Given the description of an element on the screen output the (x, y) to click on. 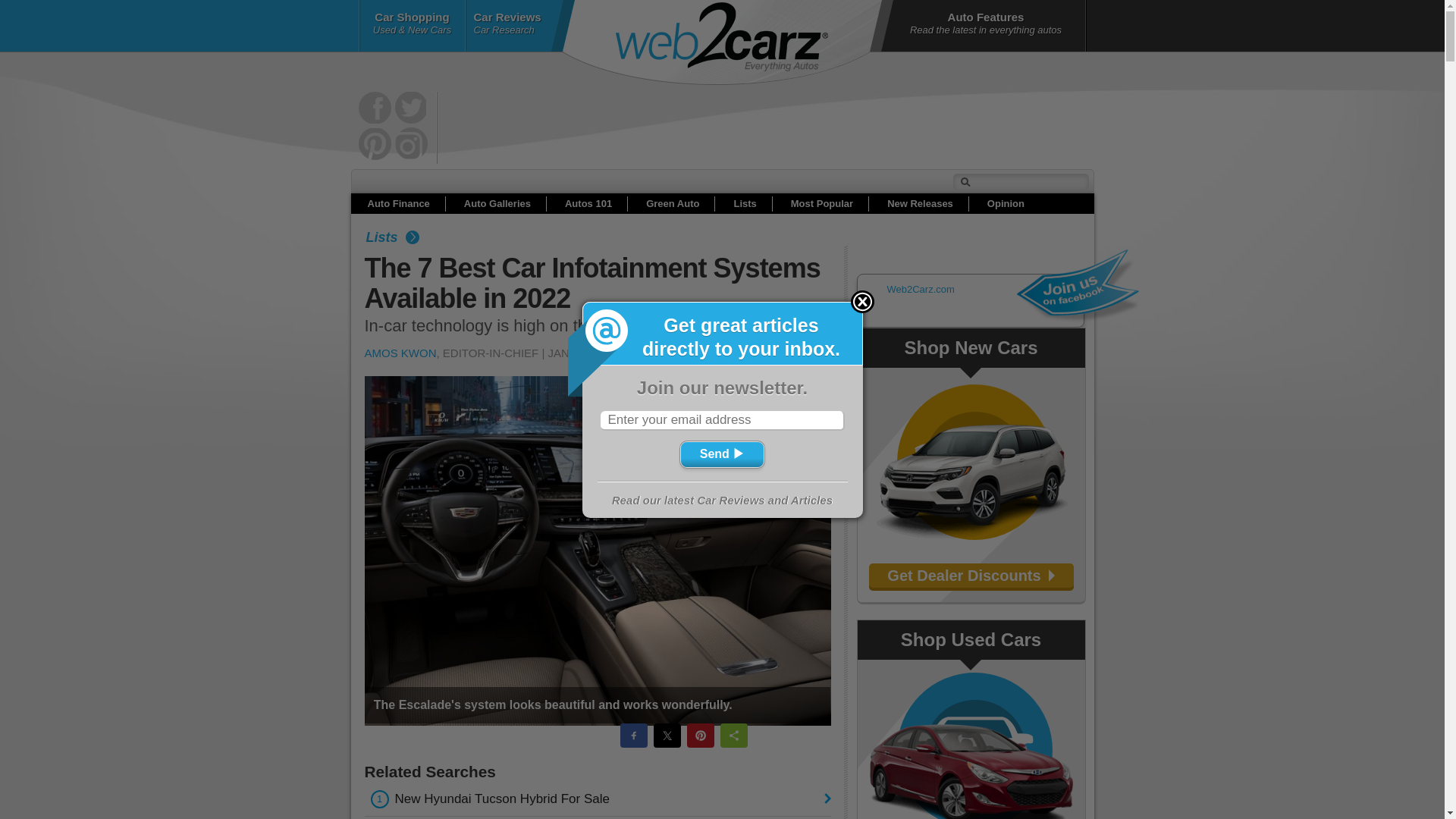
Search (471, 299)
Search (488, 251)
Search (488, 403)
